Given the description of an element on the screen output the (x, y) to click on. 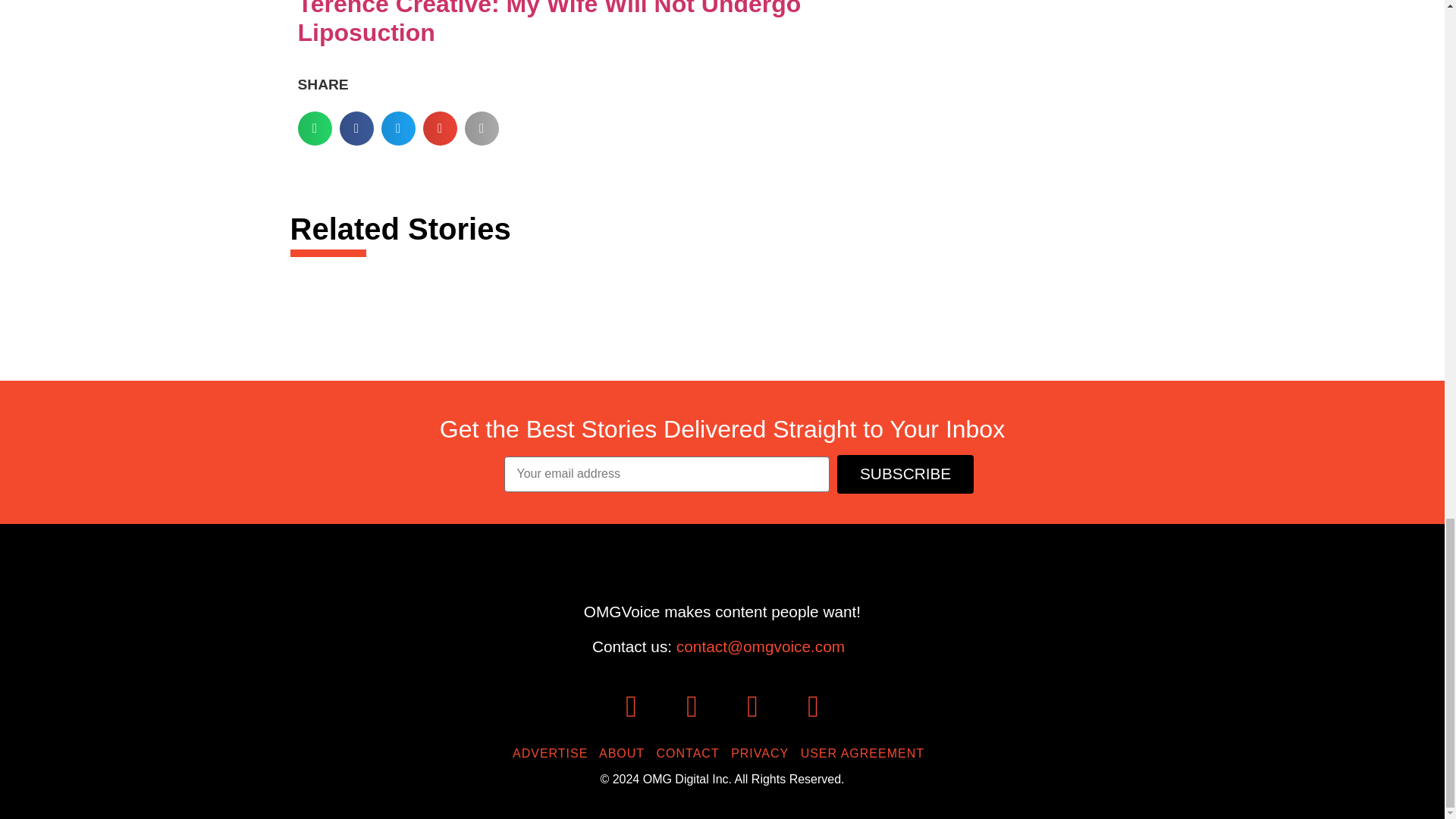
CONTACT (691, 753)
Terence Creative: My Wife Will Not Undergo Liposuction (548, 22)
ABOUT (625, 753)
ADVERTISE (553, 753)
PRIVACY (763, 753)
USER AGREEMENT (865, 753)
SUBSCRIBE (905, 474)
